Given the description of an element on the screen output the (x, y) to click on. 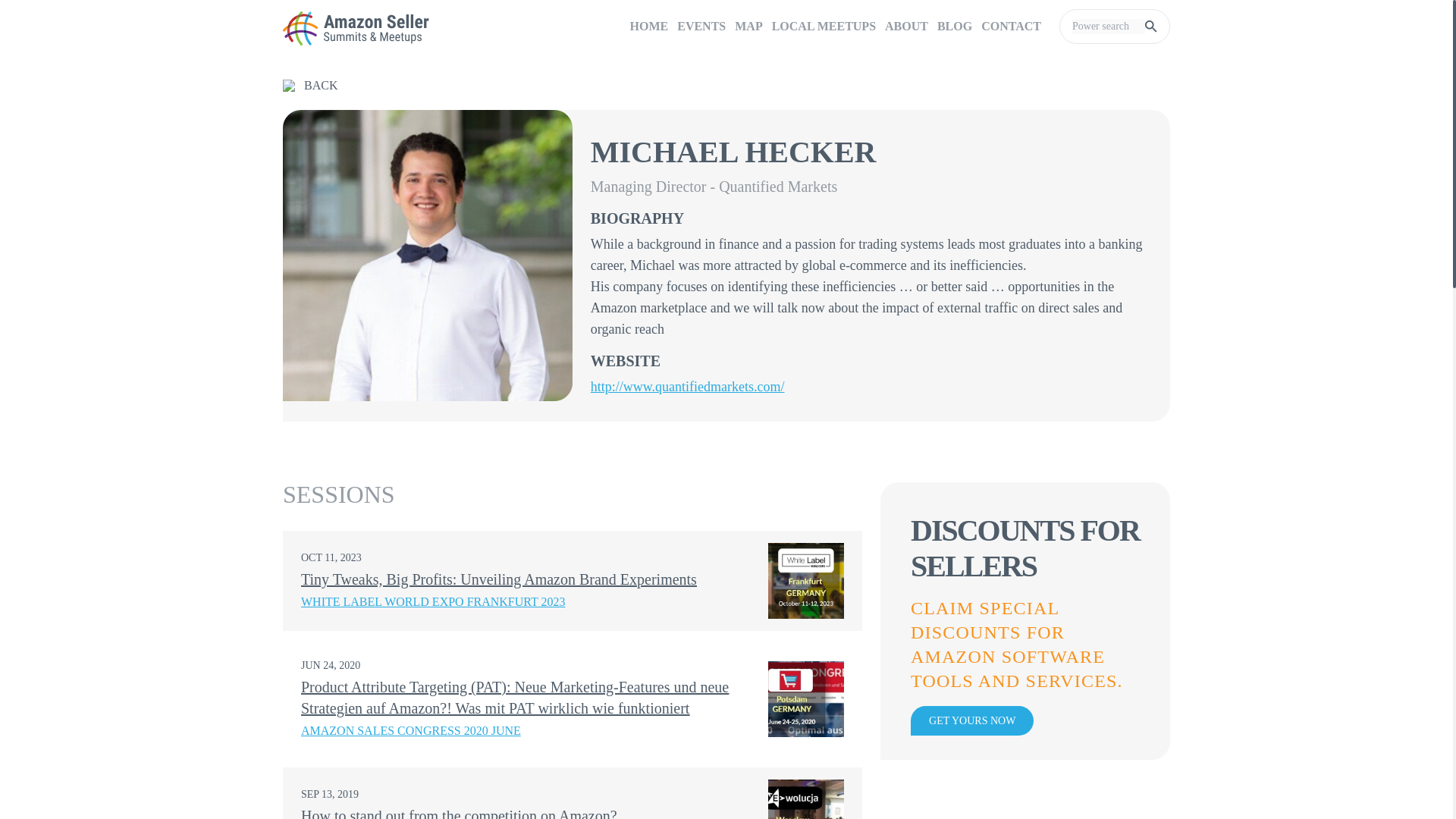
ABOUT (906, 27)
MAP (748, 27)
WHITE LABEL WORLD EXPO FRANKFURT 2023 (433, 606)
How to stand out from the competition on Amazon? (459, 813)
CONTACT (1011, 27)
BLOG (954, 27)
LOCAL MEETUPS (823, 27)
Tiny Tweaks, Big Profits: Unveiling Amazon Brand Experiments (499, 579)
HOME (649, 27)
EVENTS (701, 27)
